Given the description of an element on the screen output the (x, y) to click on. 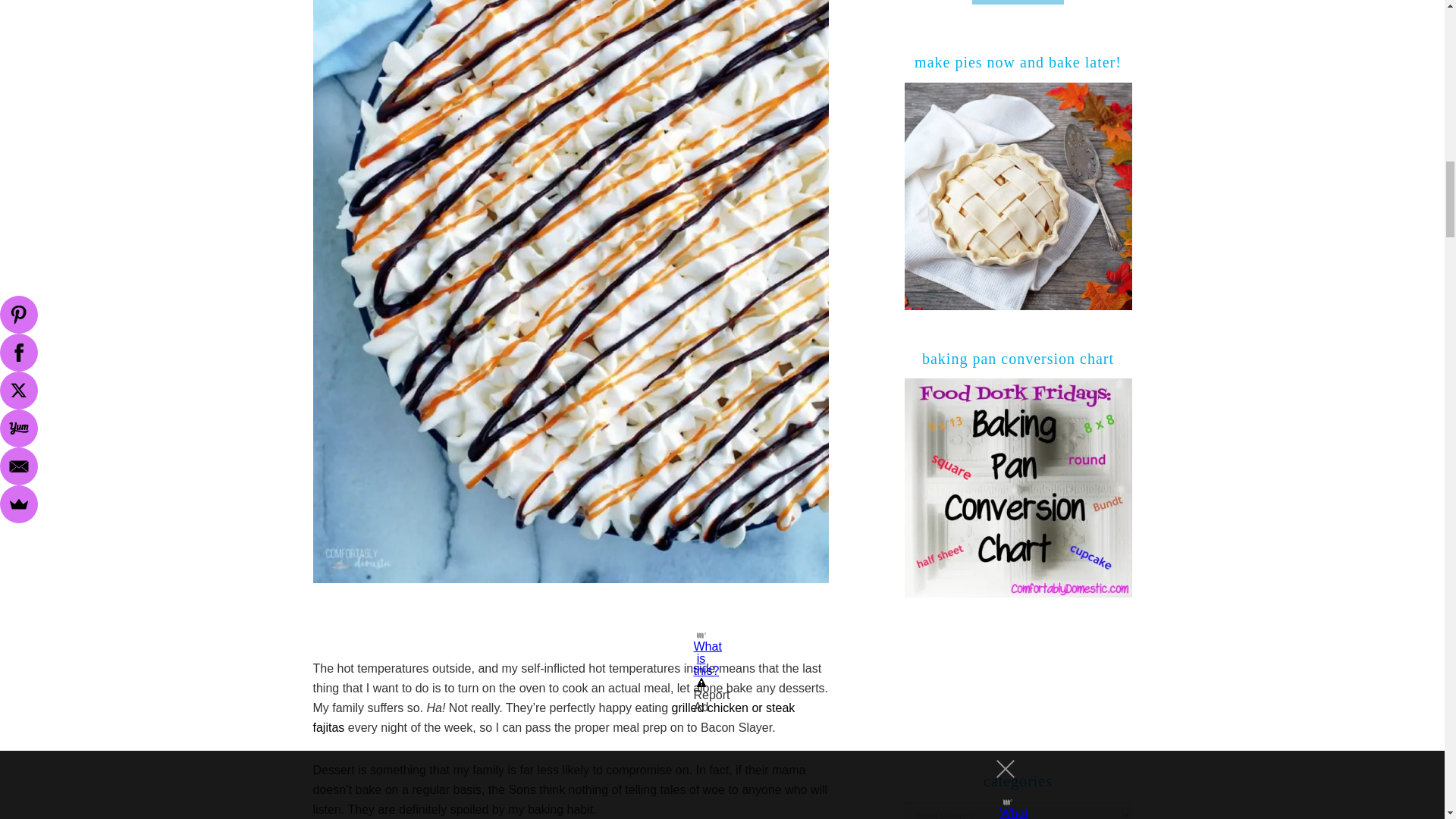
3rd party ad content (569, 624)
grilled chicken or steak fajitas (553, 717)
